Given the description of an element on the screen output the (x, y) to click on. 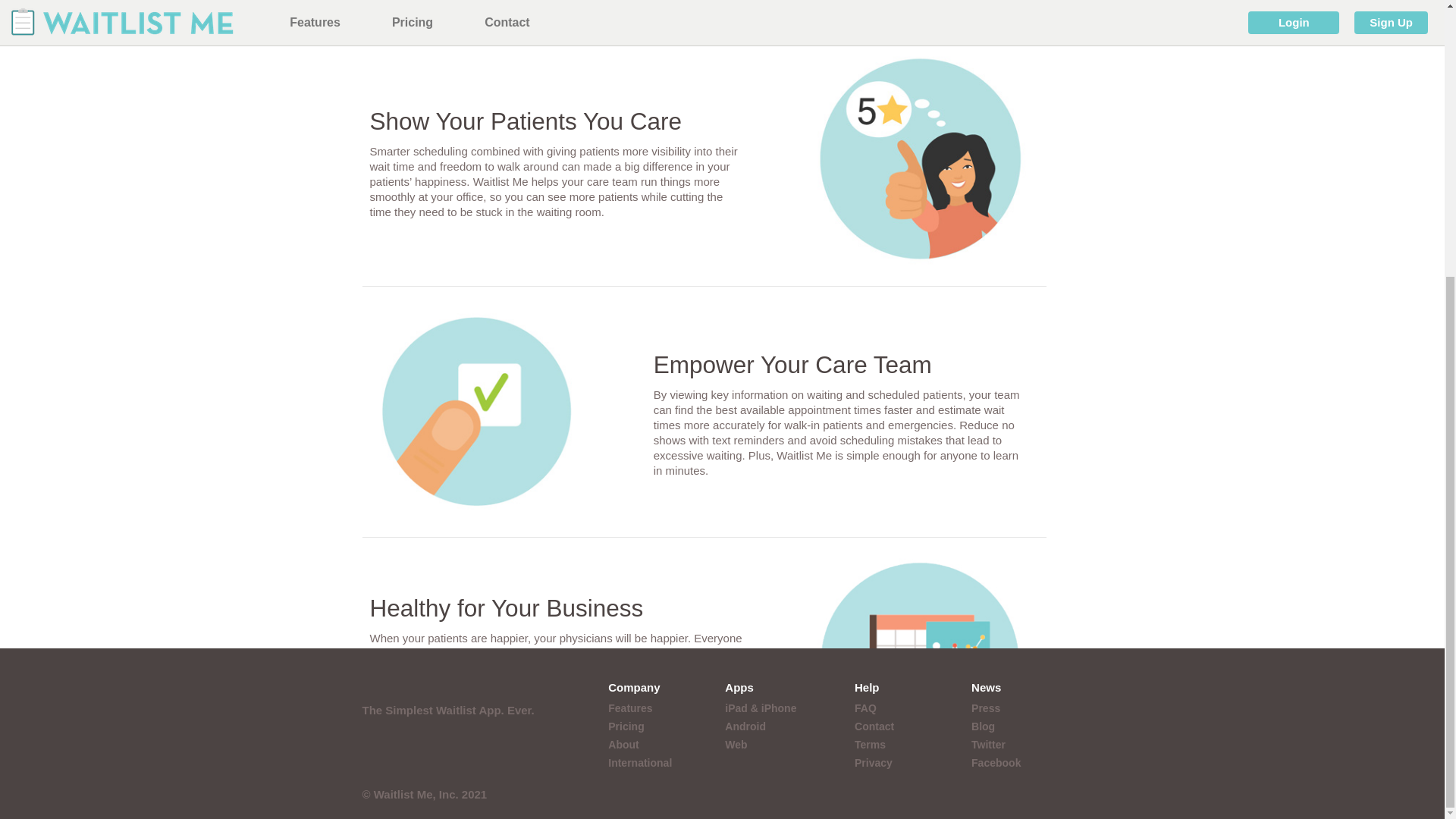
International (639, 352)
Contact (873, 316)
Features (630, 297)
Pricing (625, 316)
Blog (982, 316)
FAQ (865, 297)
Web (735, 334)
Terms (869, 334)
Android (745, 316)
Twitter (988, 334)
Facebook (995, 352)
Press (985, 297)
Privacy (873, 352)
About (623, 334)
